Given the description of an element on the screen output the (x, y) to click on. 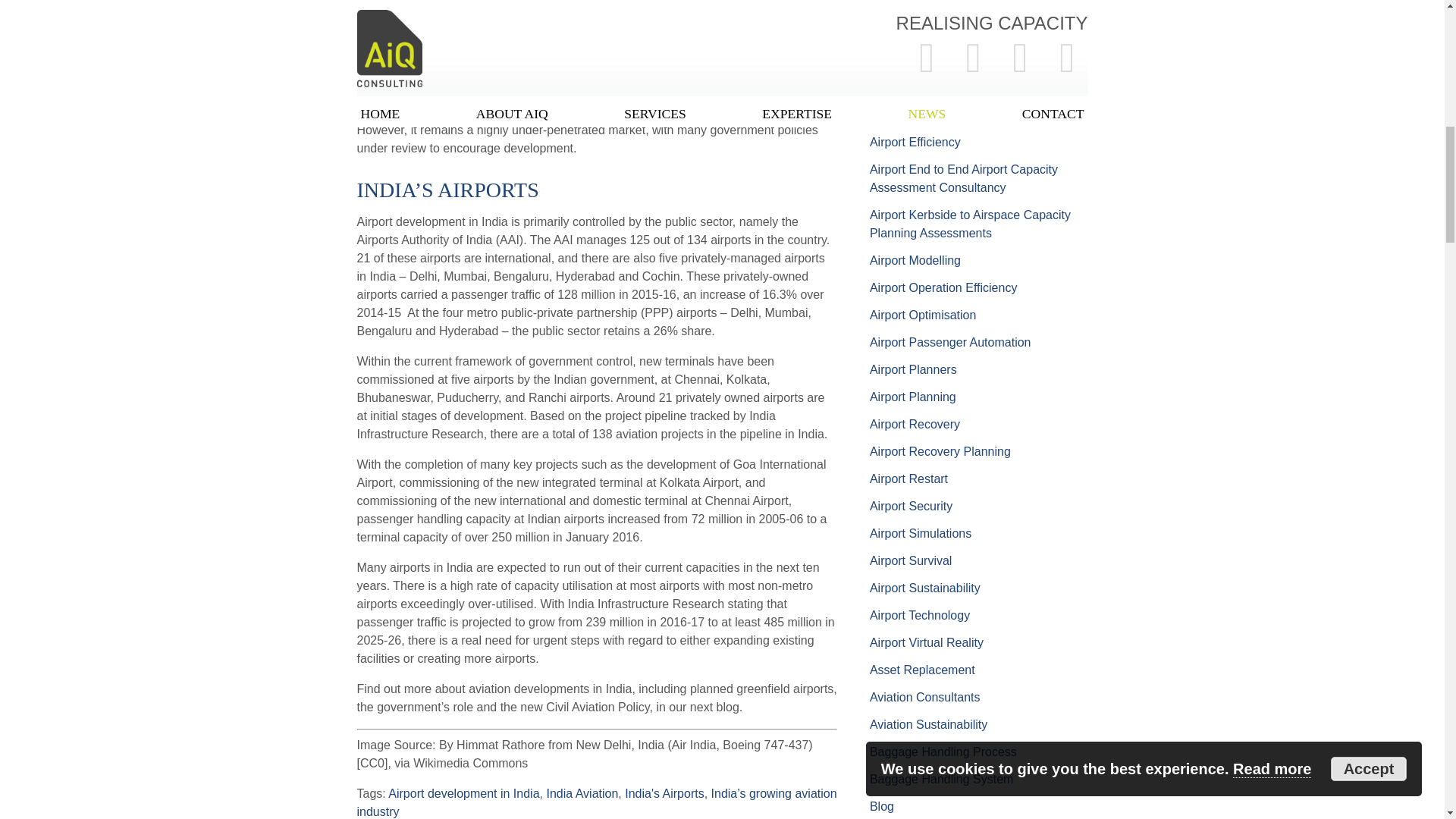
Airport development in India (463, 793)
India Aviation (581, 793)
India's Airports (663, 793)
